Given the description of an element on the screen output the (x, y) to click on. 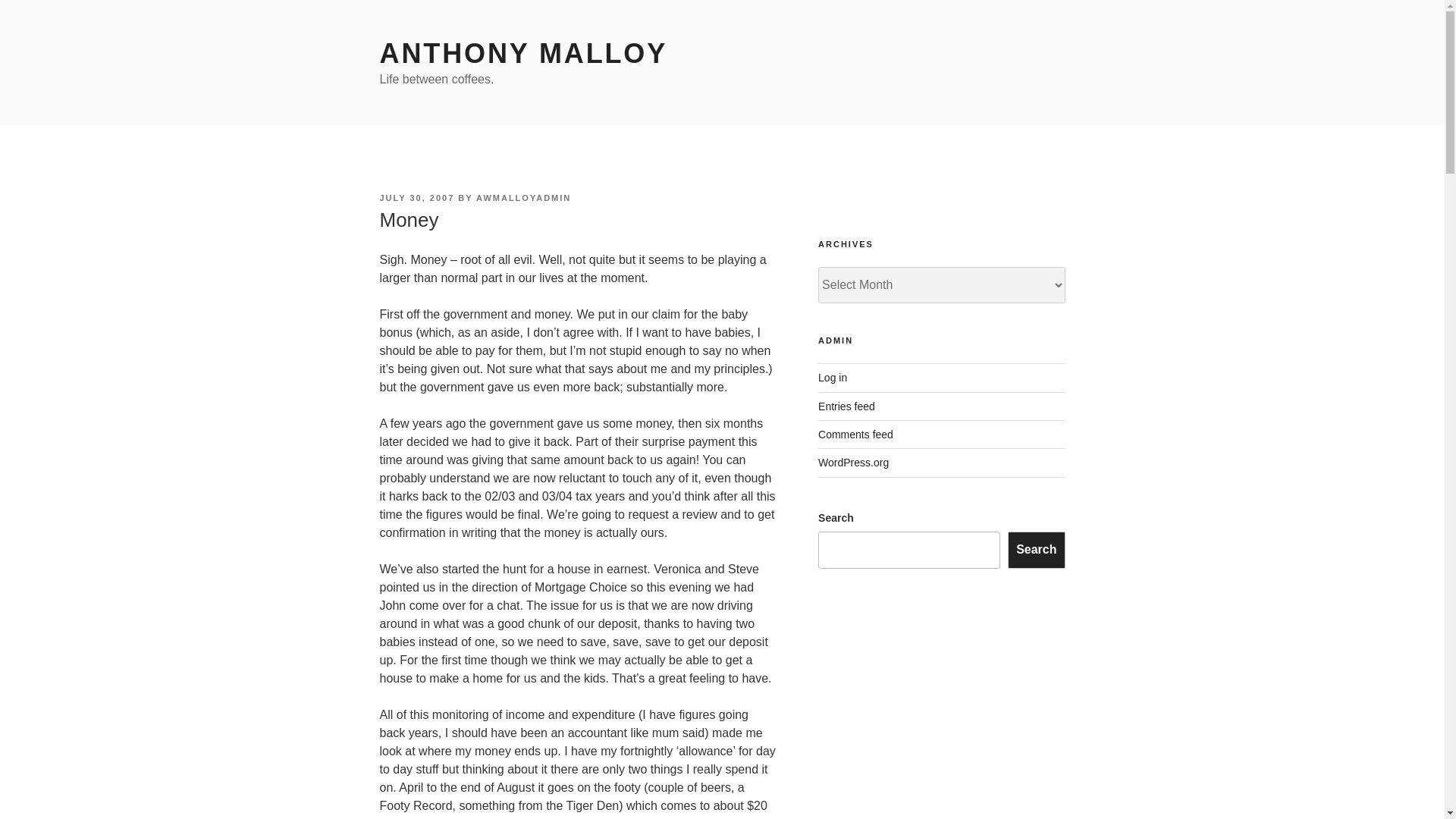
ANTHONY MALLOY (522, 52)
Search (1035, 549)
Comments feed (855, 434)
WordPress.org (853, 462)
Log in (832, 377)
JULY 30, 2007 (416, 197)
AWMALLOYADMIN (523, 197)
Entries feed (846, 406)
